Given the description of an element on the screen output the (x, y) to click on. 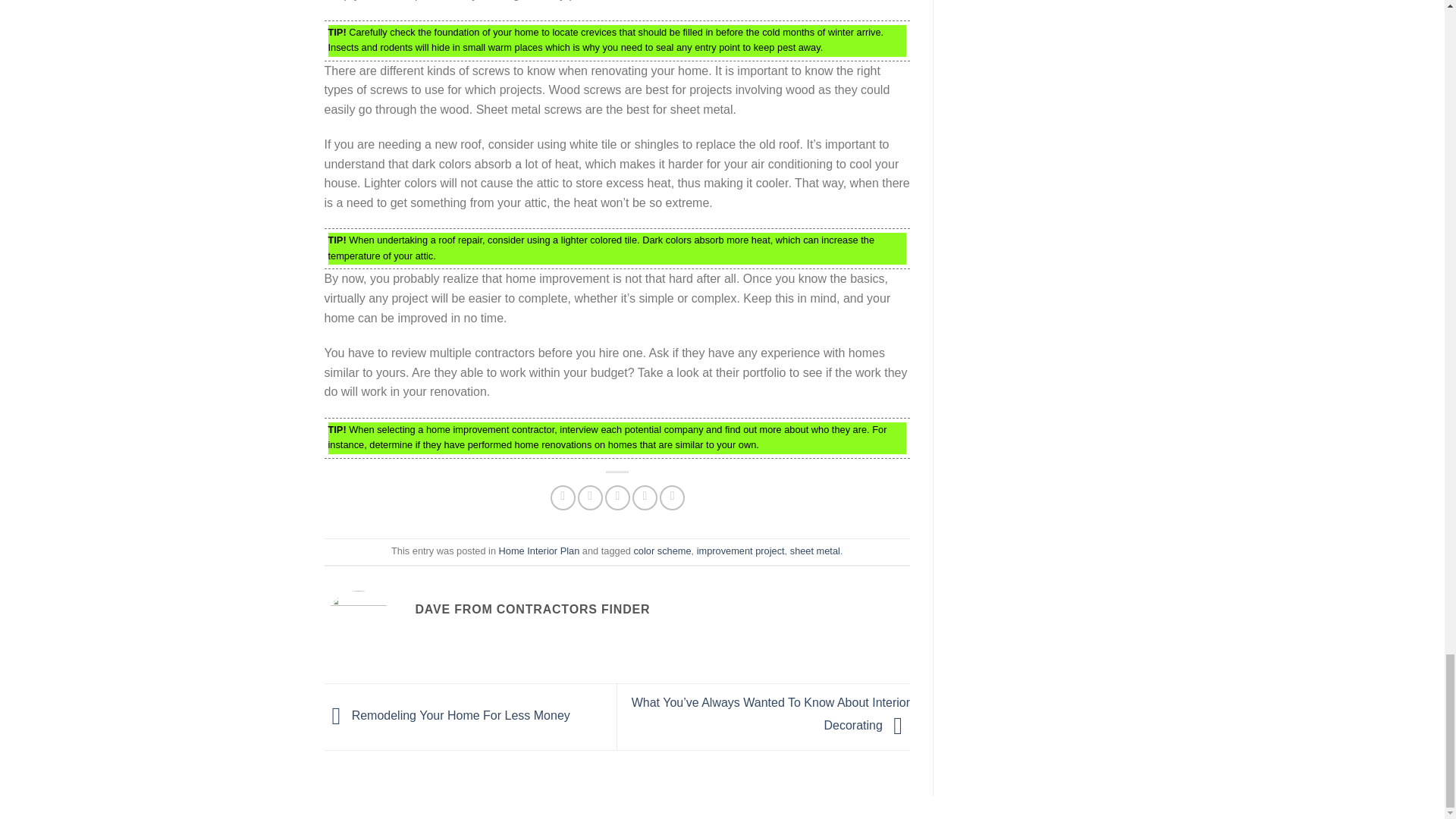
sheet metal (815, 550)
Pin on Pinterest (644, 497)
color scheme (661, 550)
improvement project (740, 550)
Home Interior Plan (539, 550)
Share on LinkedIn (671, 497)
Remodeling Your Home For Less Money (447, 716)
Email to a Friend (617, 497)
Share on Facebook (562, 497)
Share on Twitter (590, 497)
